Given the description of an element on the screen output the (x, y) to click on. 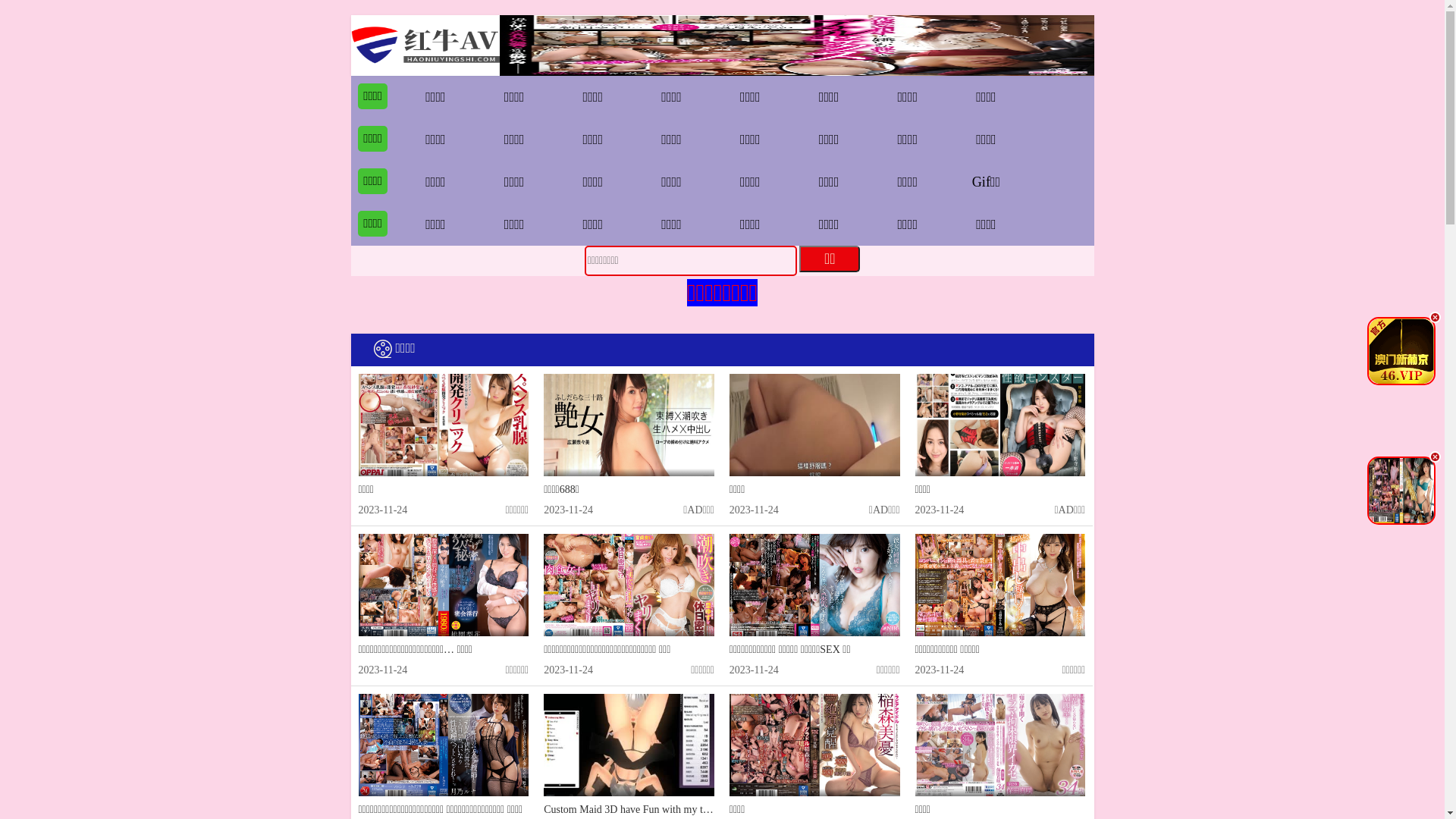
Custom Maid 3D have Fun with my two Awesome Maid Element type: text (663, 809)
Custom Maid 3D  have Fun with my two Awesome Maid Element type: hover (628, 744)
